Given the description of an element on the screen output the (x, y) to click on. 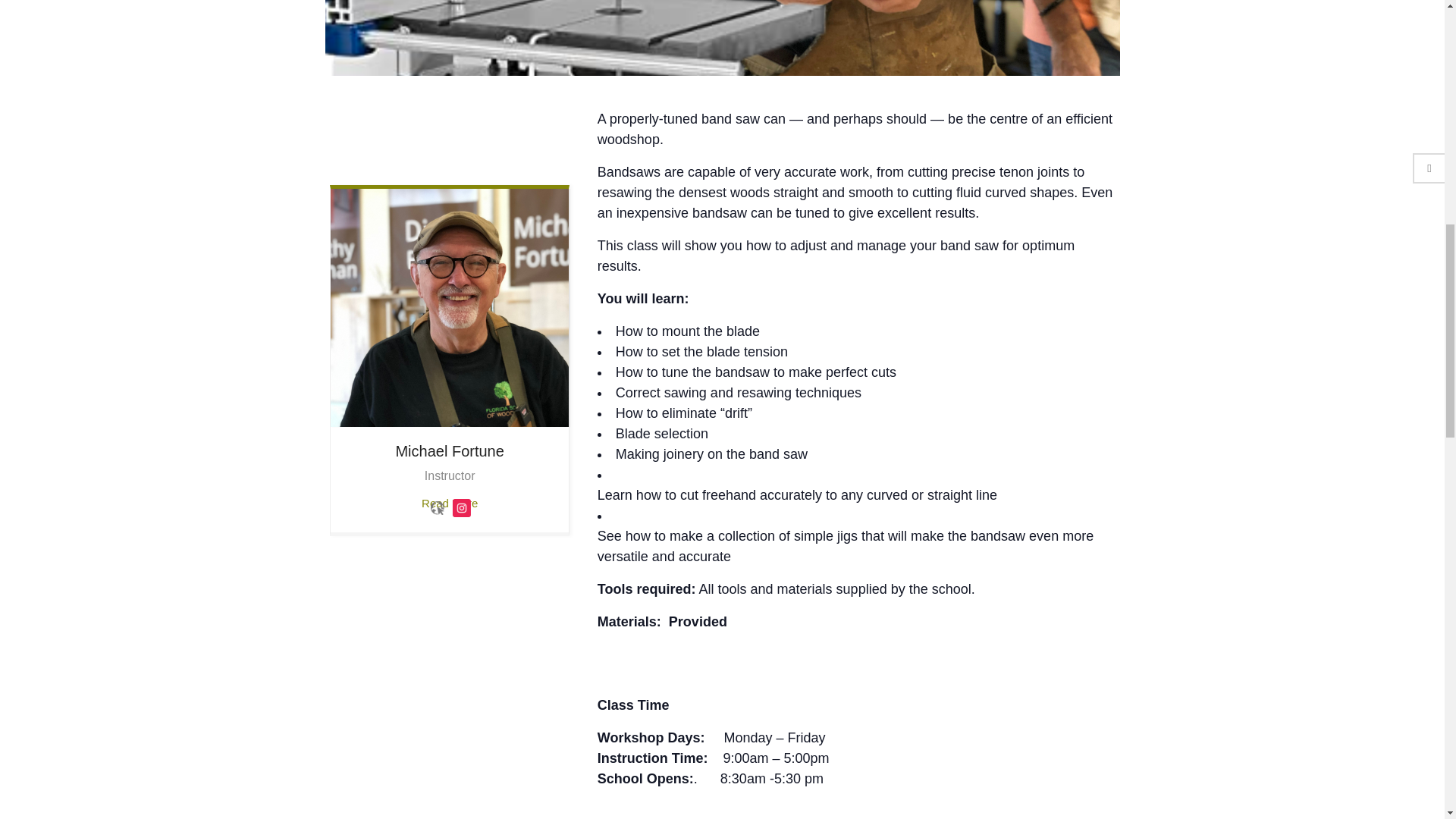
Michael Fortune (449, 307)
